Given the description of an element on the screen output the (x, y) to click on. 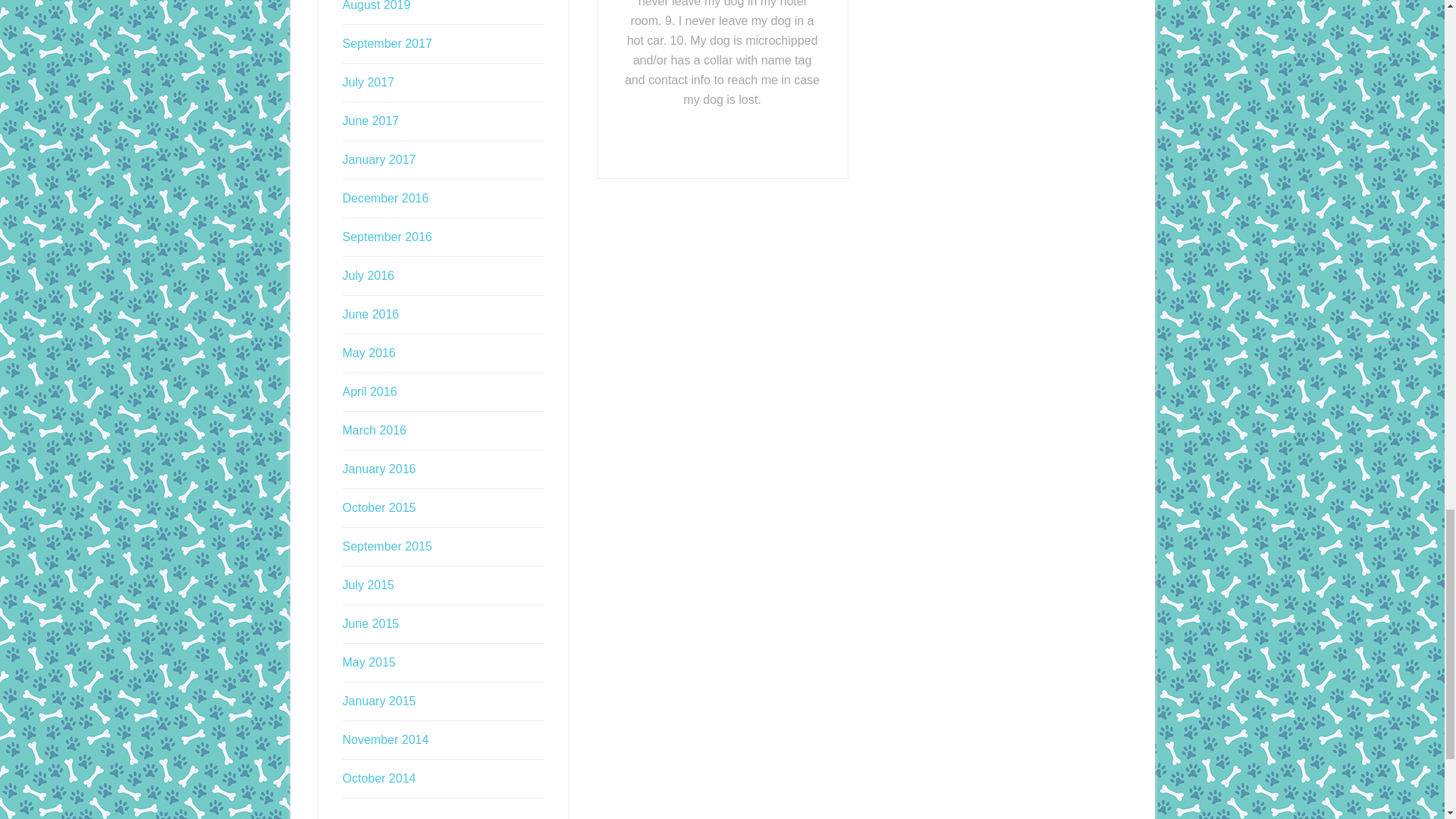
July 2016 (368, 275)
May 2016 (369, 352)
June 2017 (370, 120)
September 2015 (387, 545)
June 2015 (370, 623)
July 2017 (368, 82)
January 2017 (379, 159)
June 2016 (370, 314)
March 2016 (374, 430)
May 2015 (369, 662)
October 2015 (379, 507)
August 2019 (376, 5)
July 2015 (368, 584)
April 2016 (369, 391)
December 2016 (385, 197)
